Given the description of an element on the screen output the (x, y) to click on. 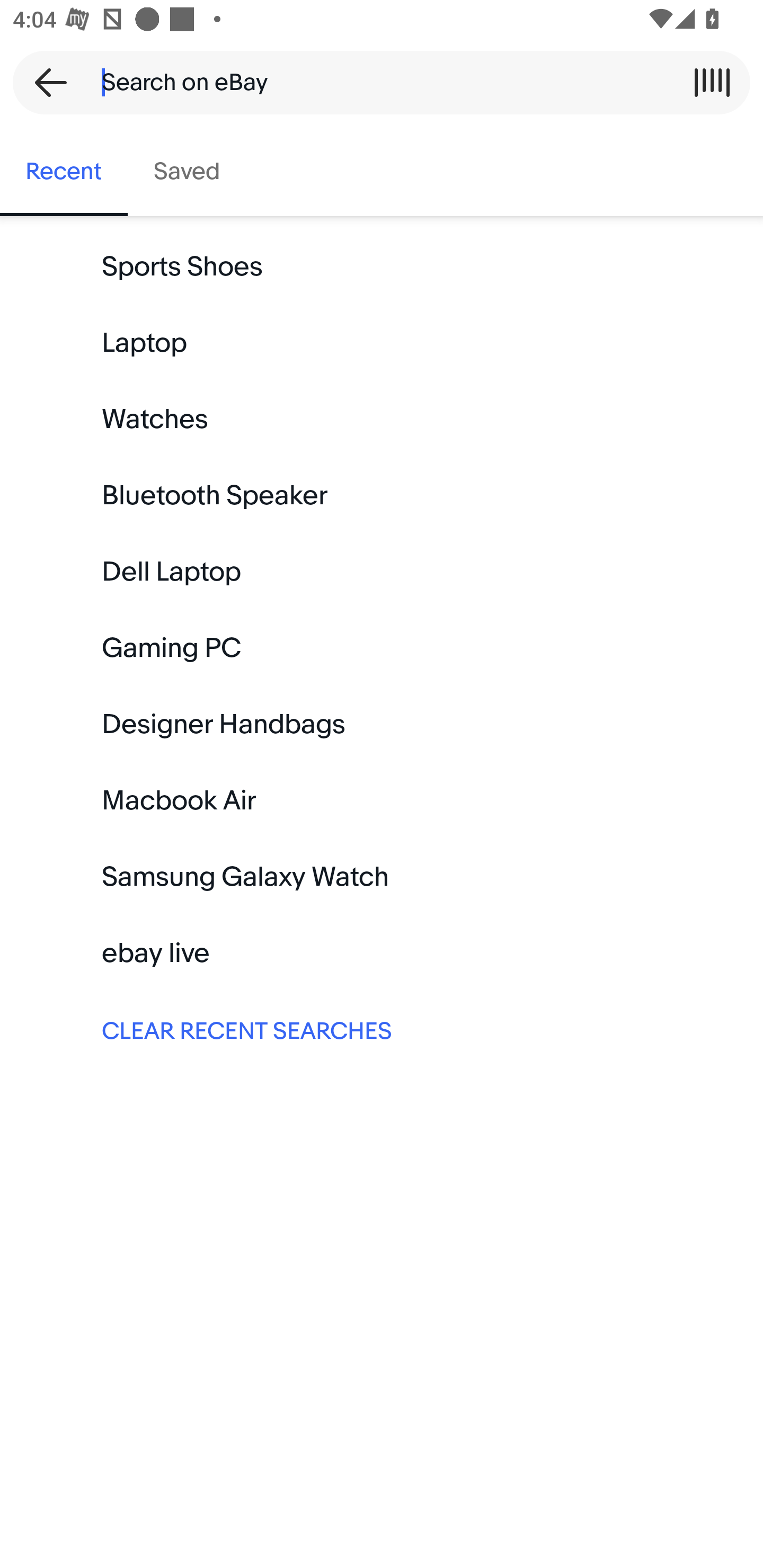
Back (44, 82)
Scan a barcode (711, 82)
Search on eBay (375, 82)
Saved, tab 2 of 2 Saved (186, 171)
Sports Shoes Keyword search Sports Shoes: (381, 266)
Laptop Keyword search Laptop: (381, 343)
Watches Keyword search Watches: (381, 419)
Dell Laptop Keyword search Dell Laptop: (381, 571)
Gaming PC Keyword search Gaming PC: (381, 647)
Macbook Air Keyword search Macbook Air: (381, 800)
ebay live Keyword search ebay live: (381, 952)
CLEAR RECENT SEARCHES (381, 1028)
